Given the description of an element on the screen output the (x, y) to click on. 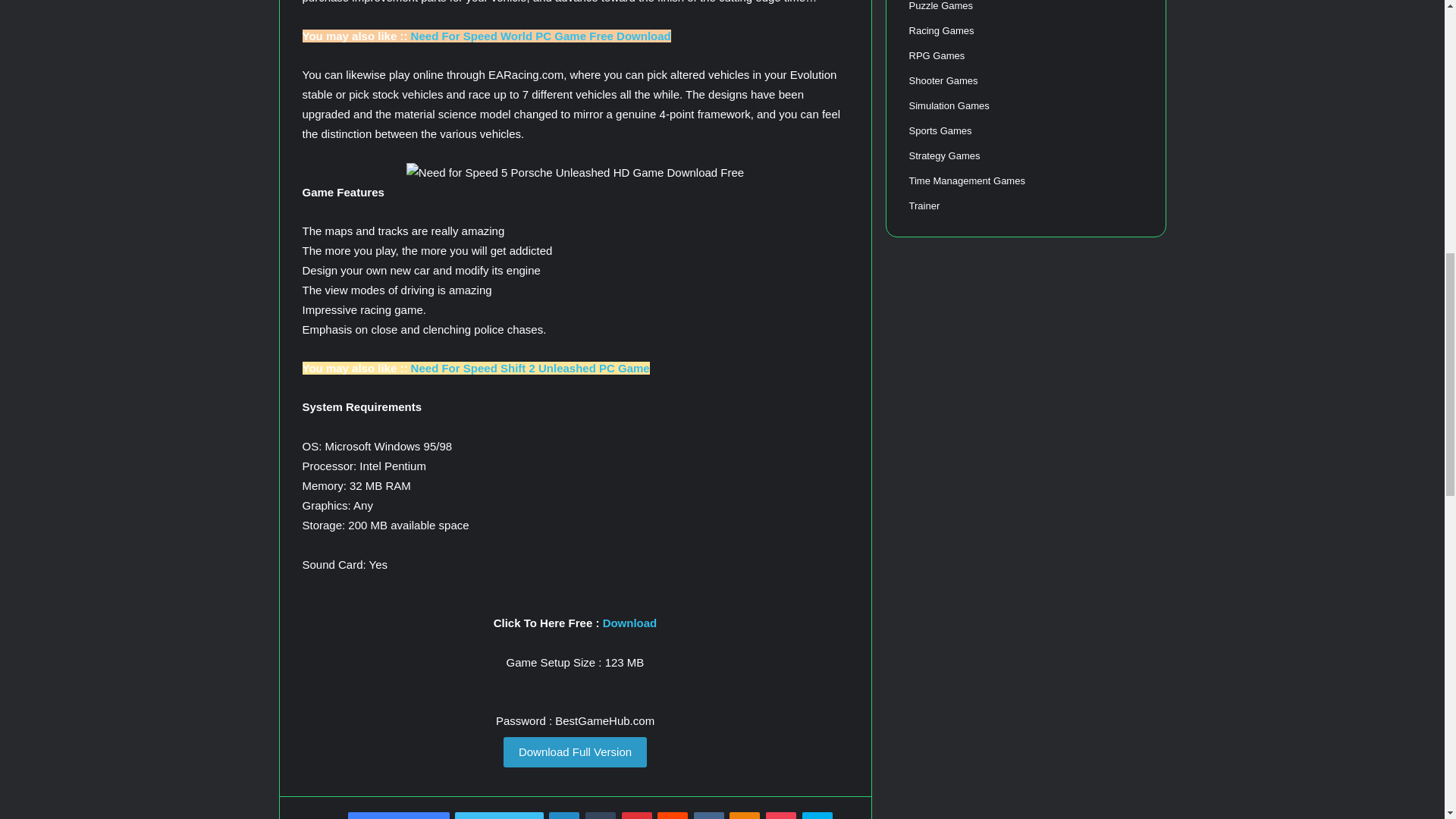
Tumblr (600, 815)
Facebook (398, 815)
Facebook (398, 815)
LinkedIn (563, 815)
Need for Speed 5 Porsche Unleashed HD Game Download Free (575, 172)
Download Full Version (574, 752)
Twitter (498, 815)
Odnoklassniki (744, 815)
LinkedIn (563, 815)
Reddit (672, 815)
